Given the description of an element on the screen output the (x, y) to click on. 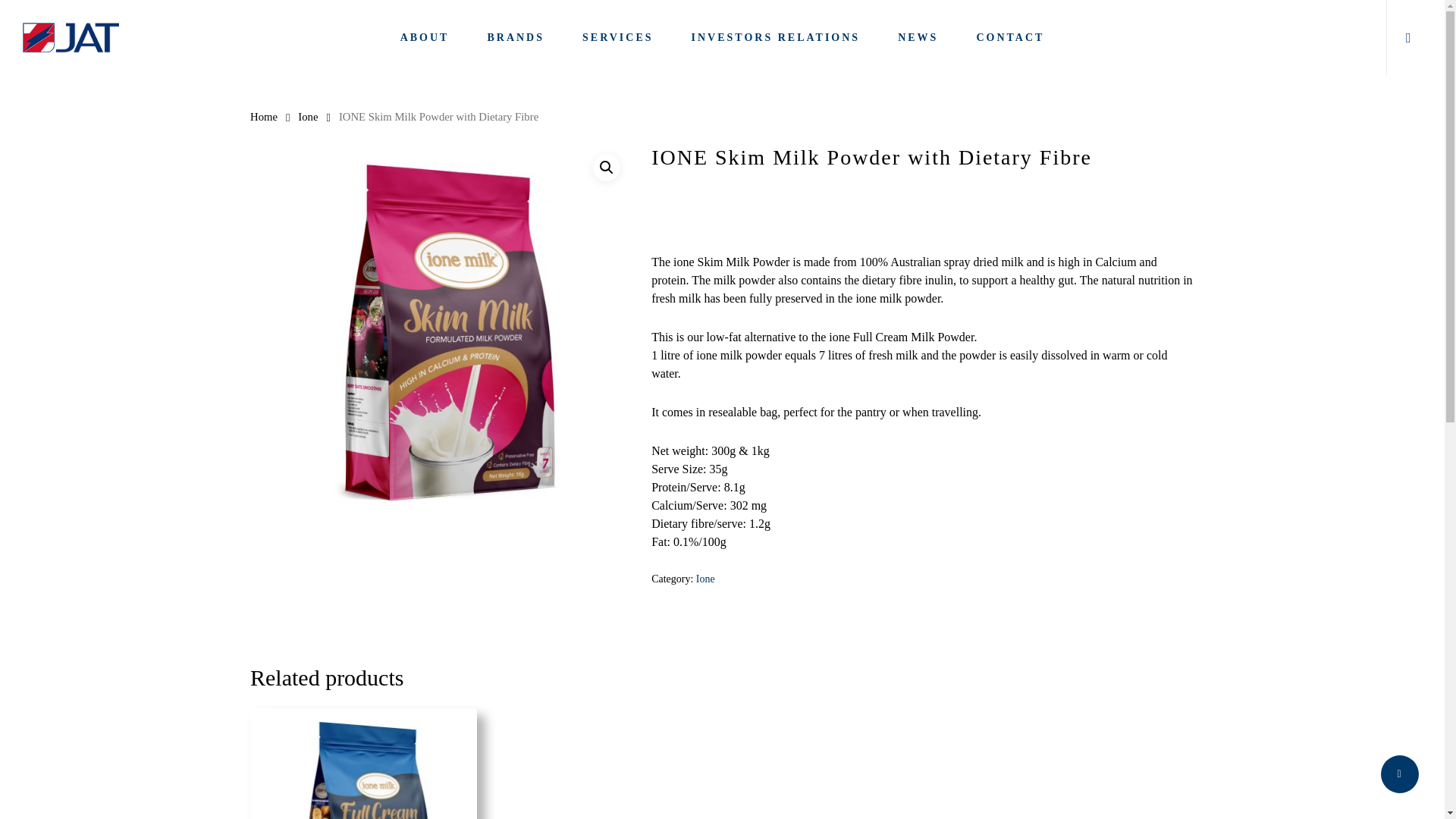
NEWS (917, 37)
Ione (704, 578)
ABOUT (424, 37)
Ione (307, 116)
INVESTORS RELATIONS (775, 37)
CONTACT (1009, 37)
Home (264, 116)
SERVICES (617, 37)
BRANDS (515, 37)
